Given the description of an element on the screen output the (x, y) to click on. 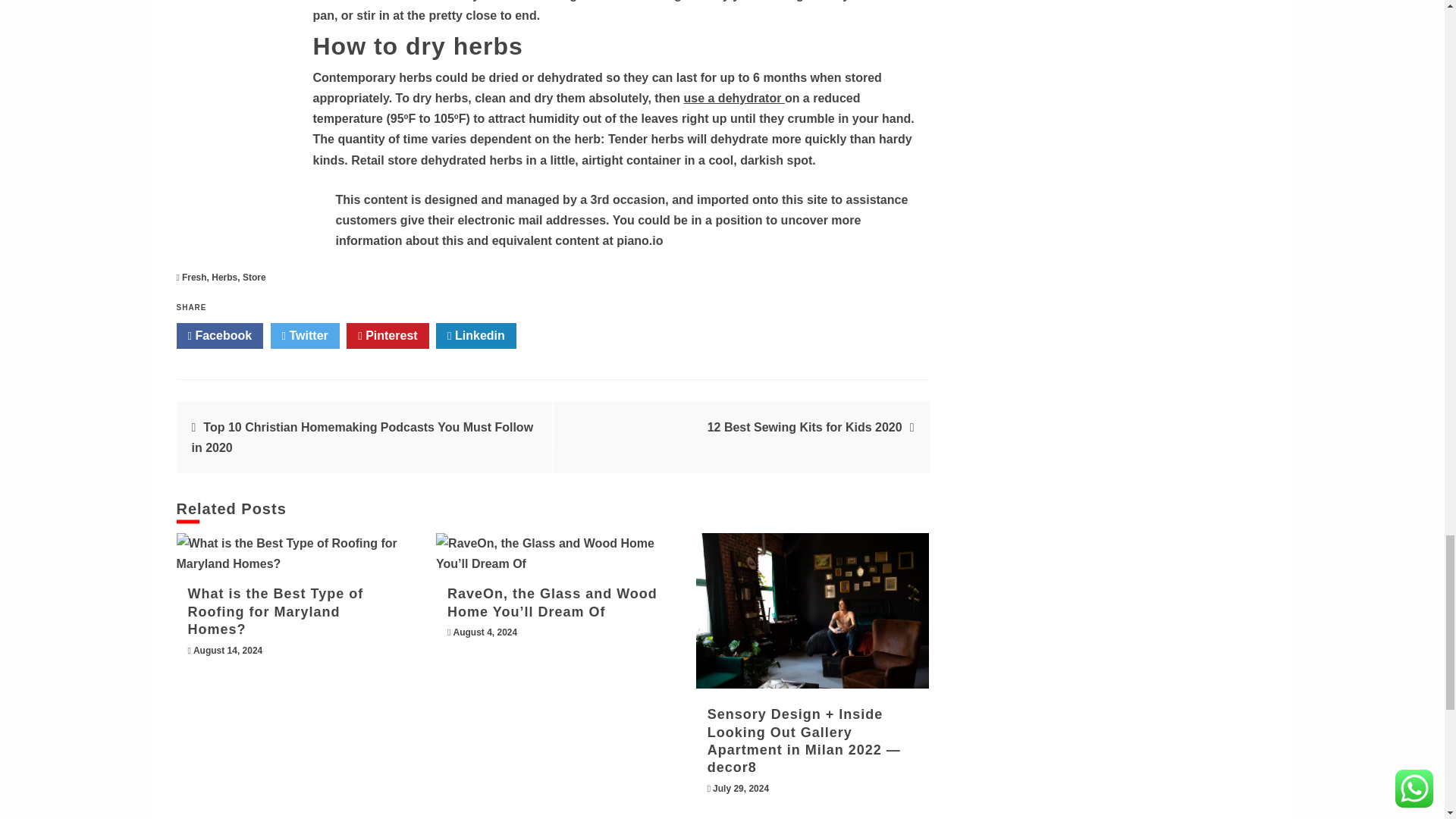
Linkedin (475, 335)
Pinterest (387, 335)
Fresh (194, 276)
What is the Best Type of Roofing for Maryland Homes? (292, 553)
Twitter (304, 335)
Store (254, 276)
Facebook (219, 335)
Herbs (224, 276)
